Given the description of an element on the screen output the (x, y) to click on. 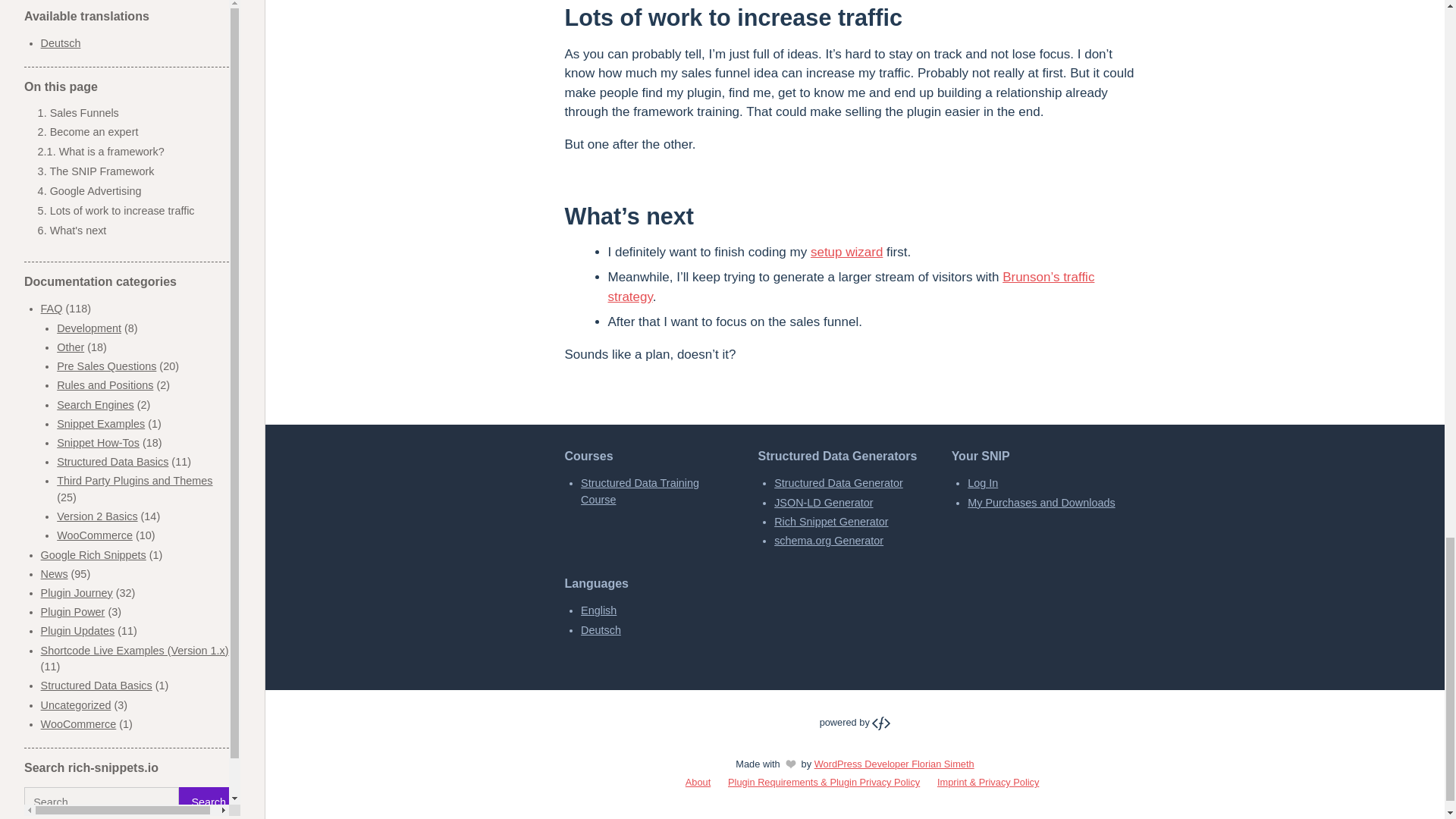
WordPress Developer Florian Simeth (855, 722)
